Given the description of an element on the screen output the (x, y) to click on. 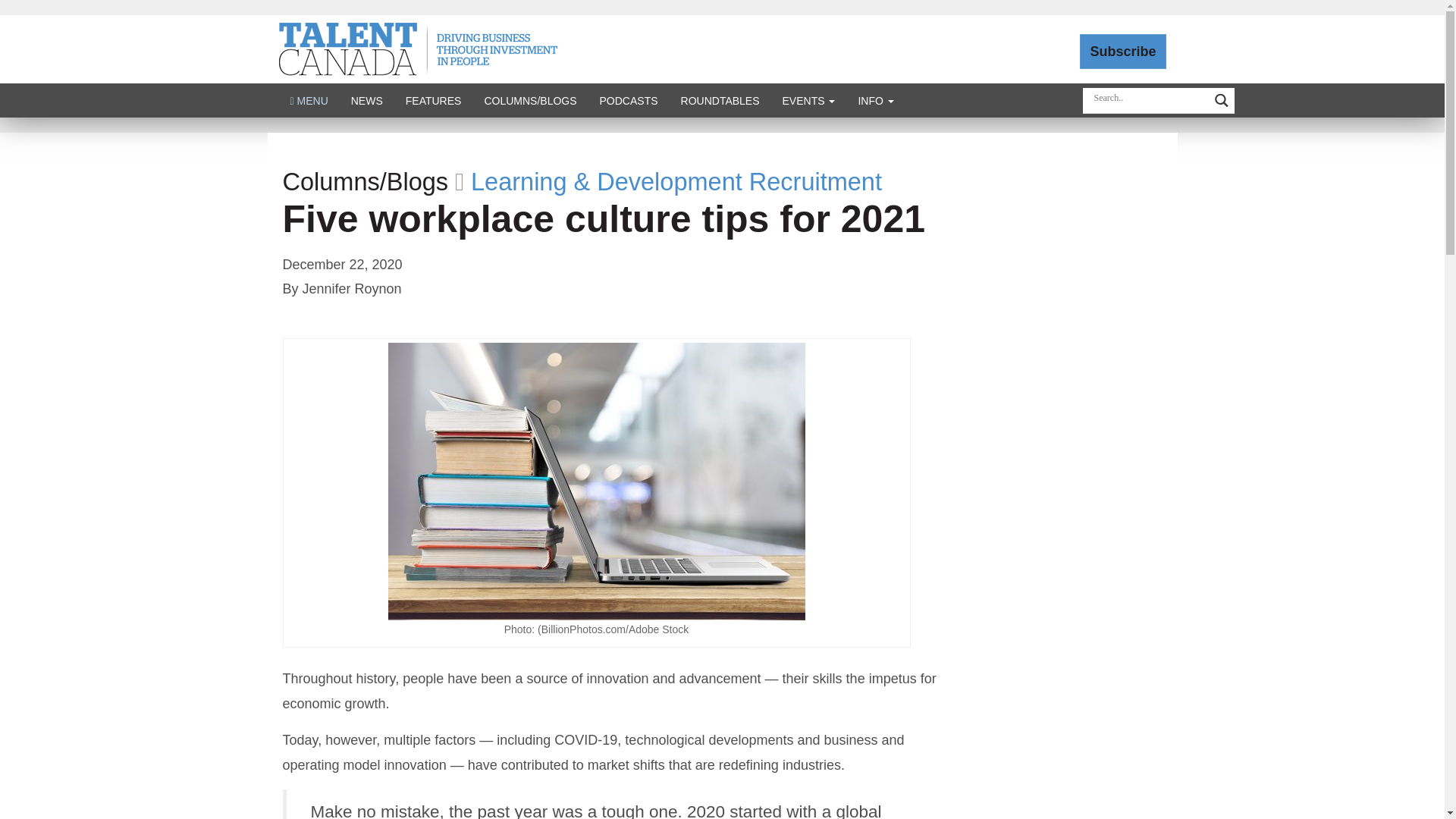
Subscribe (1122, 51)
Click to show site navigation (309, 100)
Subscribe (1123, 51)
PODCASTS (628, 100)
NEWS (366, 100)
INFO (874, 100)
MENU (309, 100)
EVENTS (809, 100)
Talent Canada (419, 48)
FEATURES (433, 100)
ROUNDTABLES (720, 100)
